Given the description of an element on the screen output the (x, y) to click on. 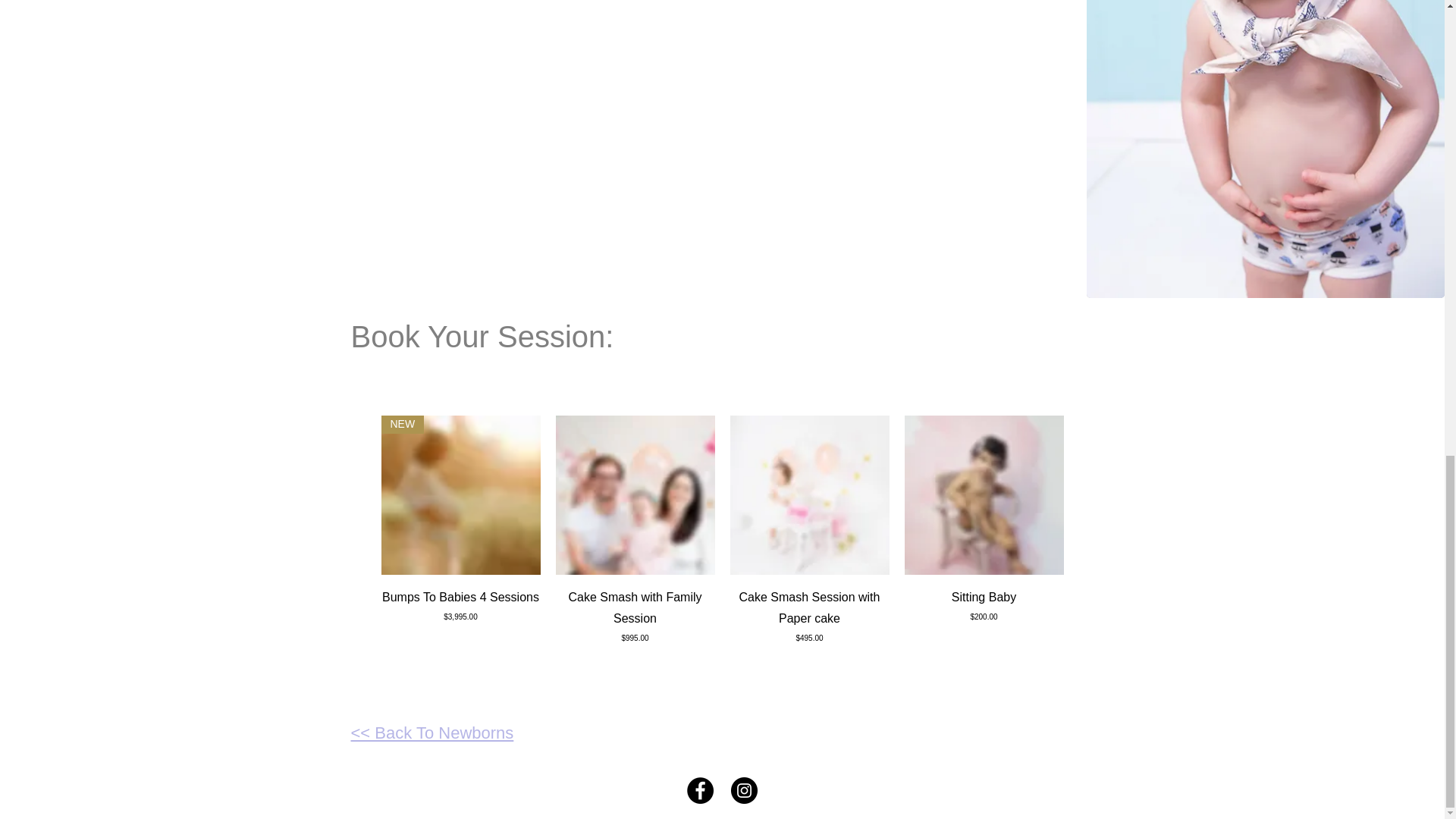
NEW (460, 494)
